Given the description of an element on the screen output the (x, y) to click on. 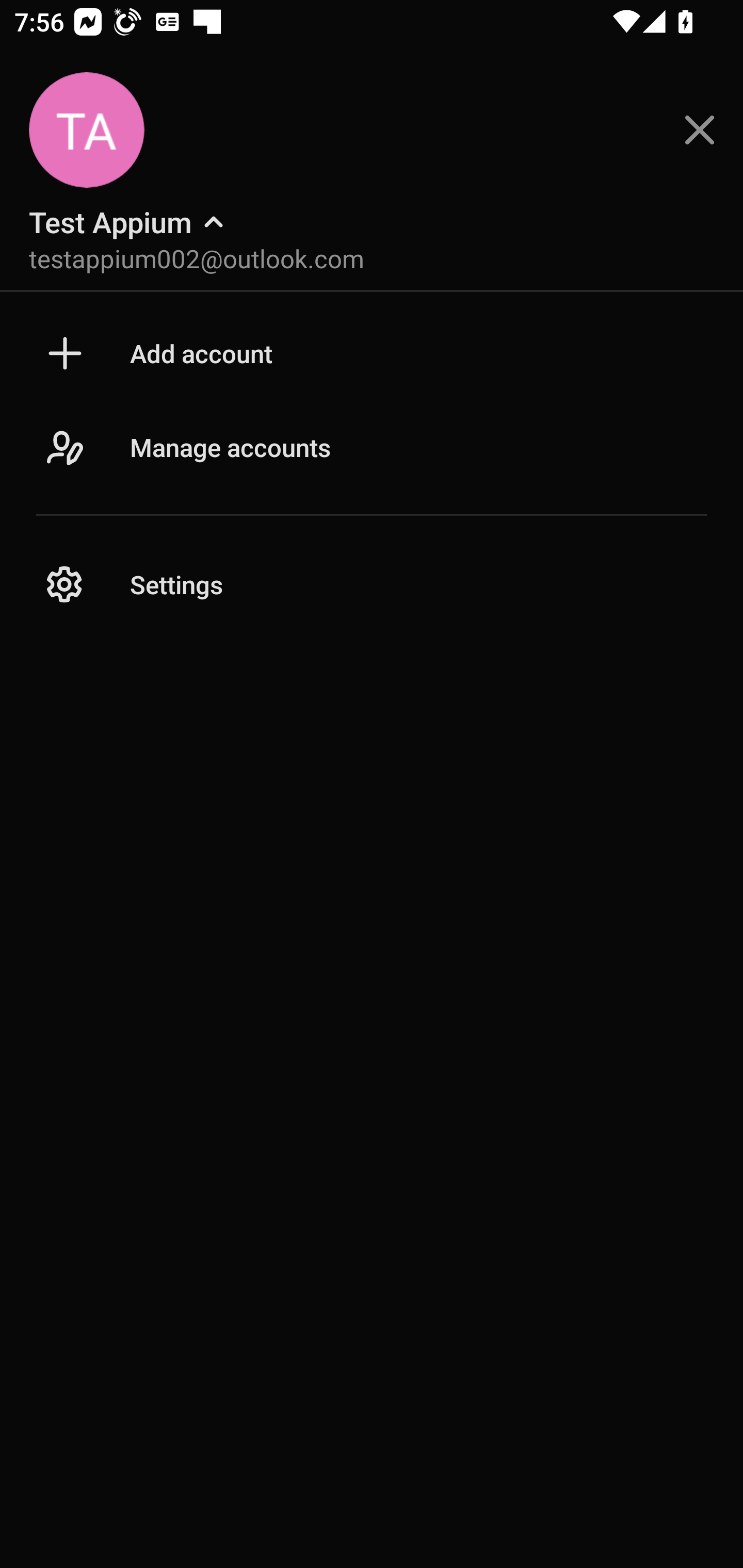
Close (699, 130)
Add account (371, 352)
Manage accounts (371, 468)
Settings (371, 584)
